Given the description of an element on the screen output the (x, y) to click on. 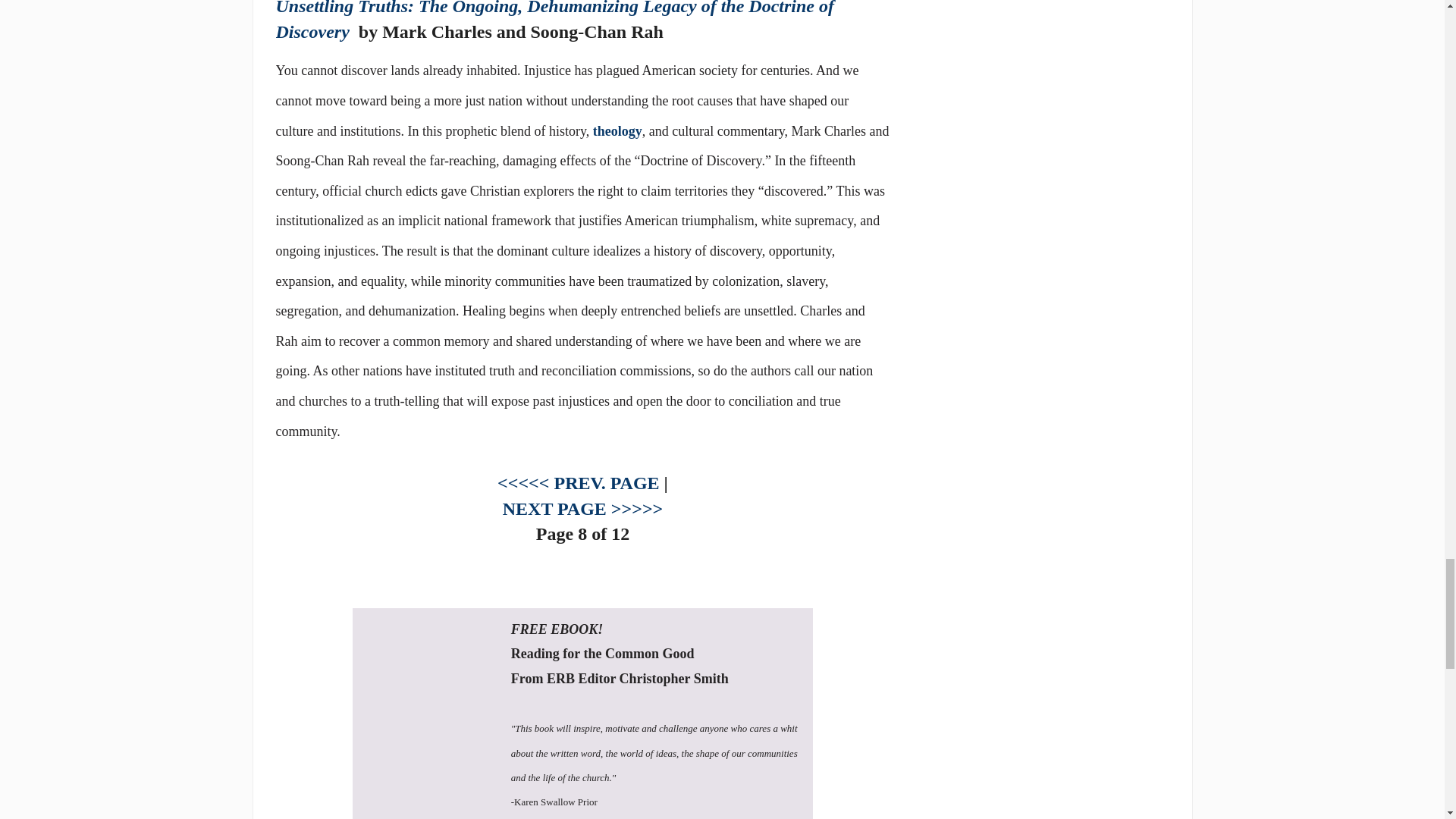
theology (617, 130)
theology (617, 130)
